Given the description of an element on the screen output the (x, y) to click on. 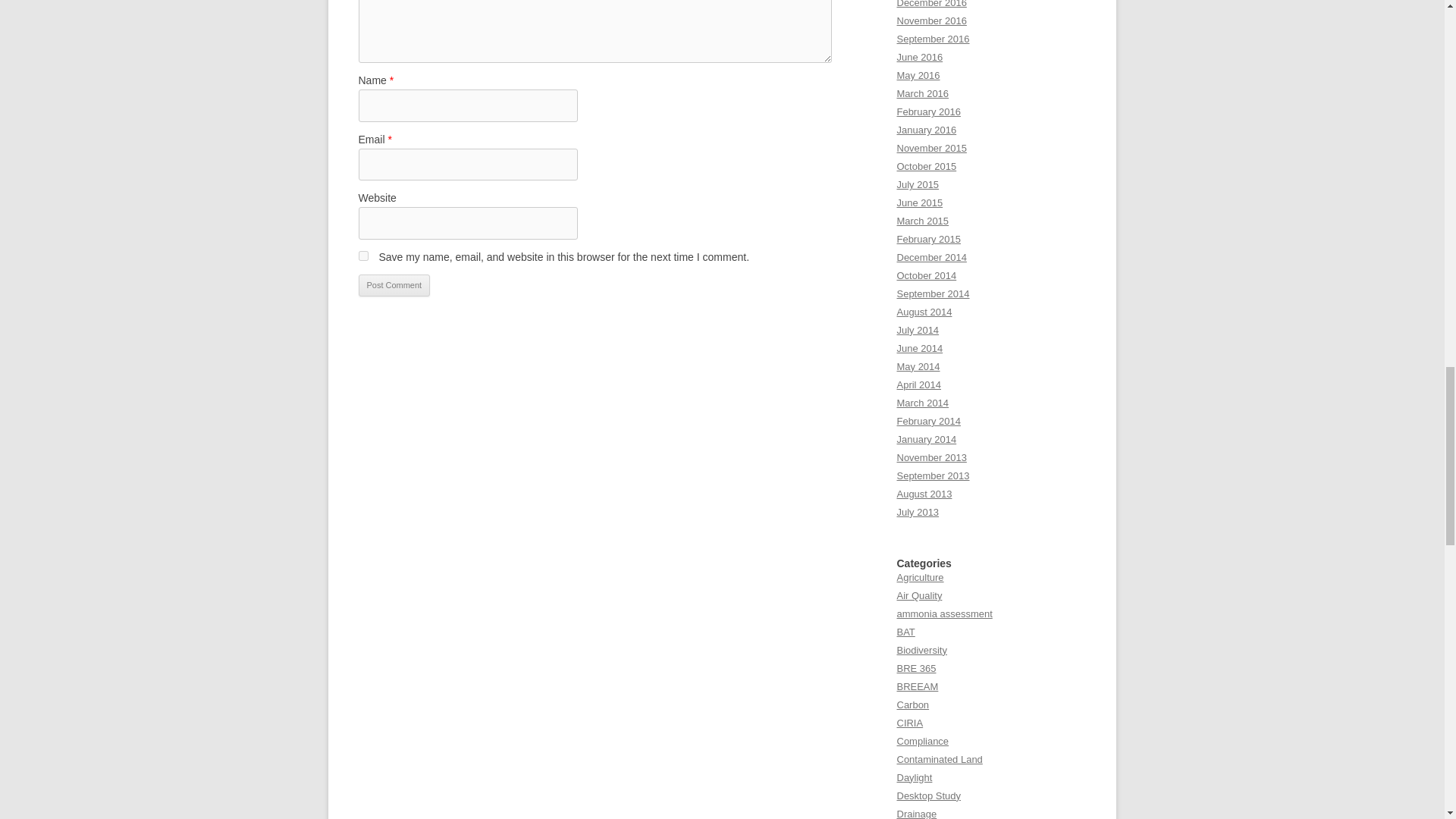
Post Comment (393, 285)
yes (363, 255)
Post Comment (393, 285)
